Given the description of an element on the screen output the (x, y) to click on. 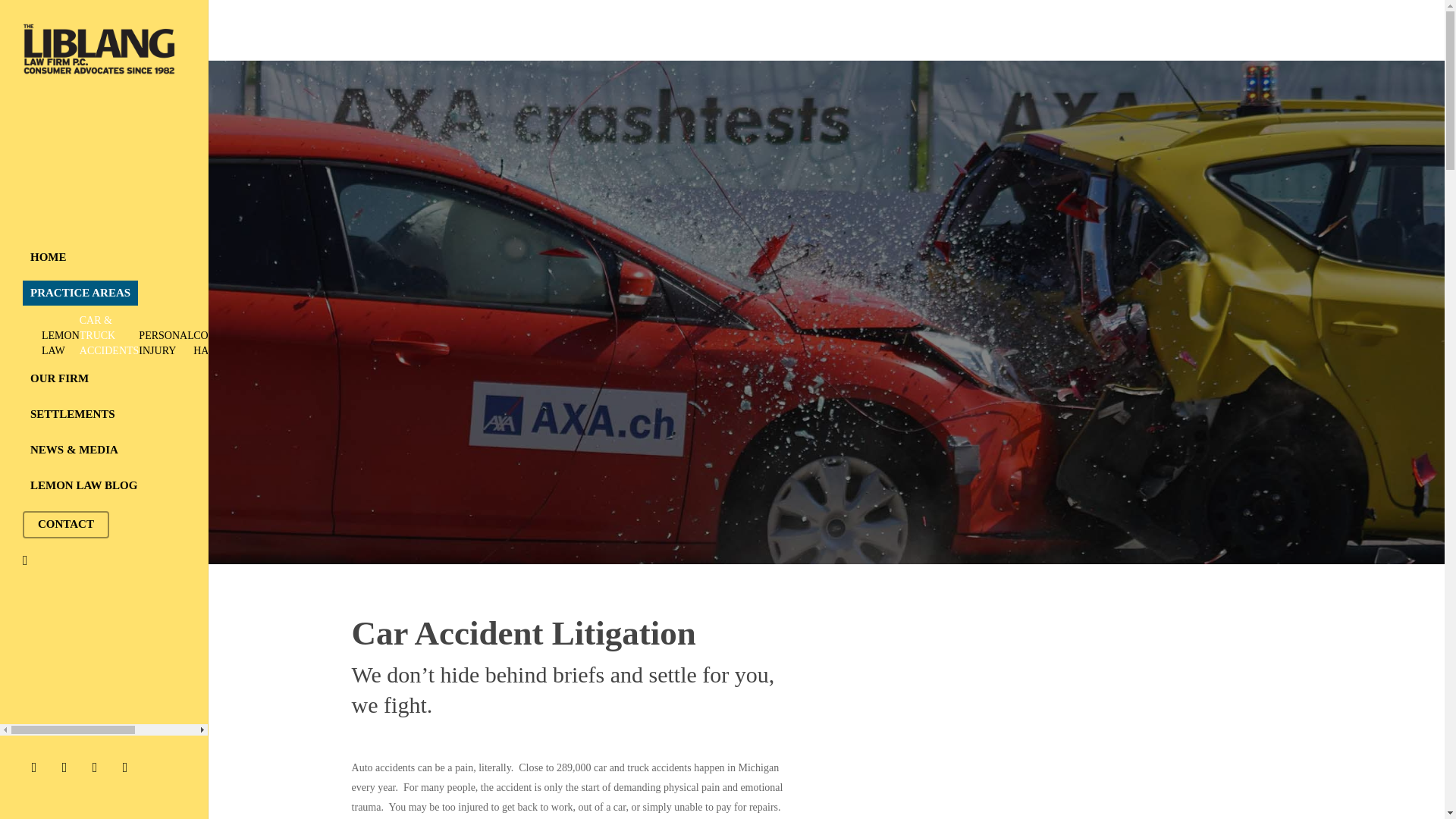
LEMON LAW (61, 343)
PERSONAL INJURY (165, 343)
PRACTICE AREAS (80, 293)
OUR FIRM (59, 378)
CONTACT (66, 524)
SETTLEMENTS (72, 414)
COLLECTIONS HARASSMENT (229, 343)
LEMON LAW BLOG (83, 485)
HOME (48, 257)
